Given the description of an element on the screen output the (x, y) to click on. 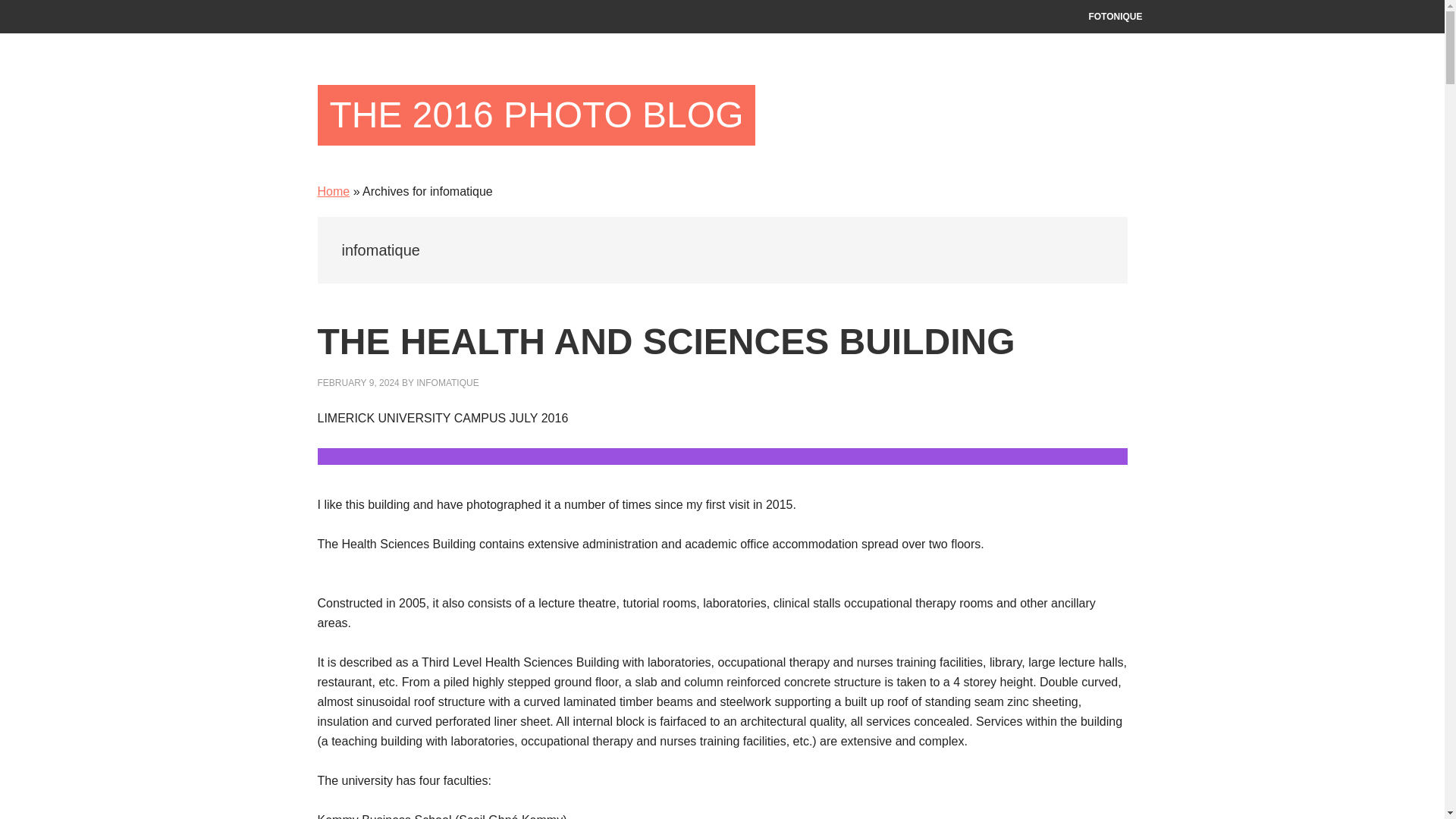
FOTONIQUE (1114, 16)
INFOMATIQUE (447, 382)
THE HEALTH AND SCIENCES BUILDING (665, 341)
Home (333, 191)
THE 2016 PHOTO BLOG (536, 115)
